Given the description of an element on the screen output the (x, y) to click on. 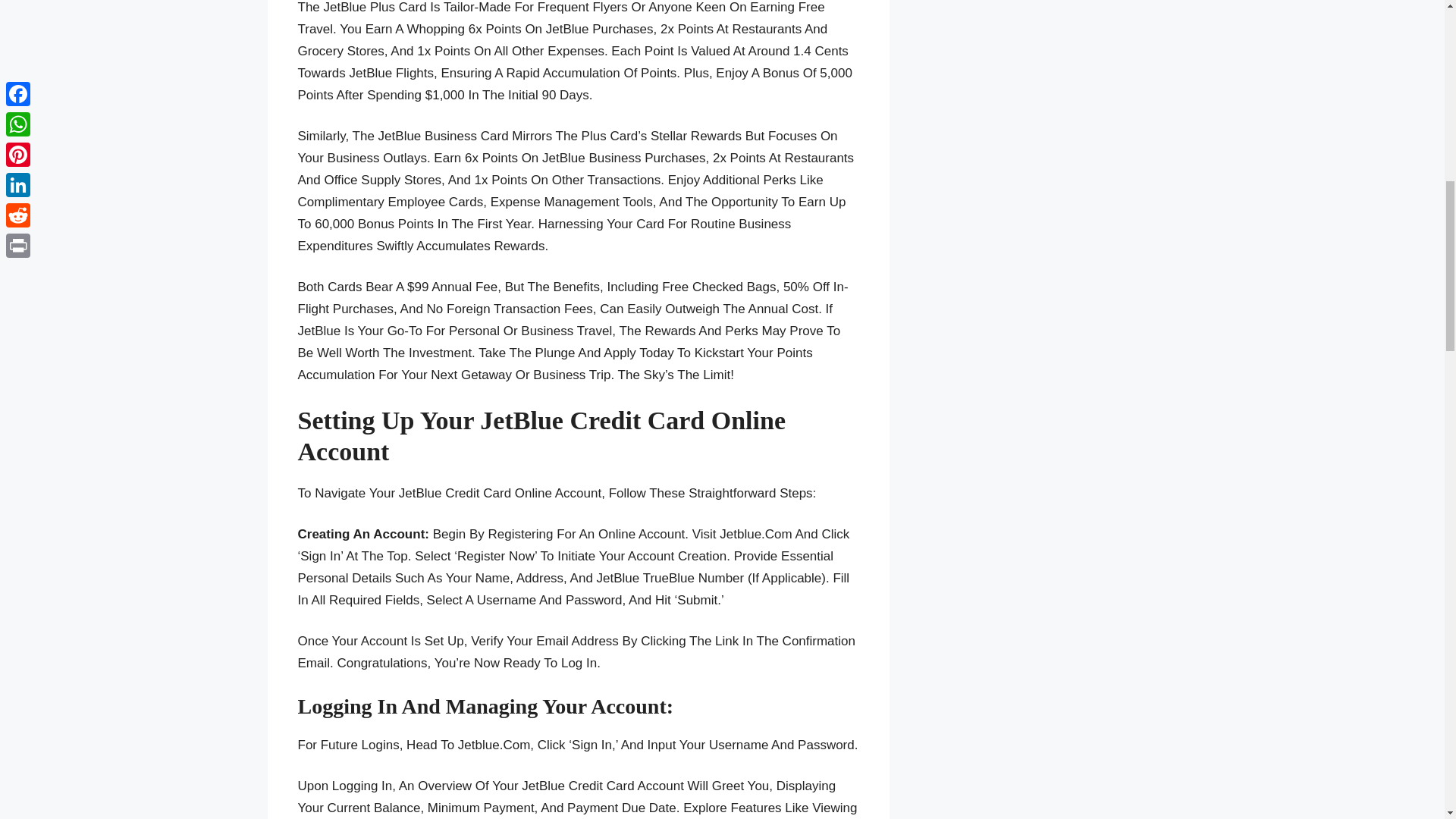
Scroll back to top (1406, 720)
